Given the description of an element on the screen output the (x, y) to click on. 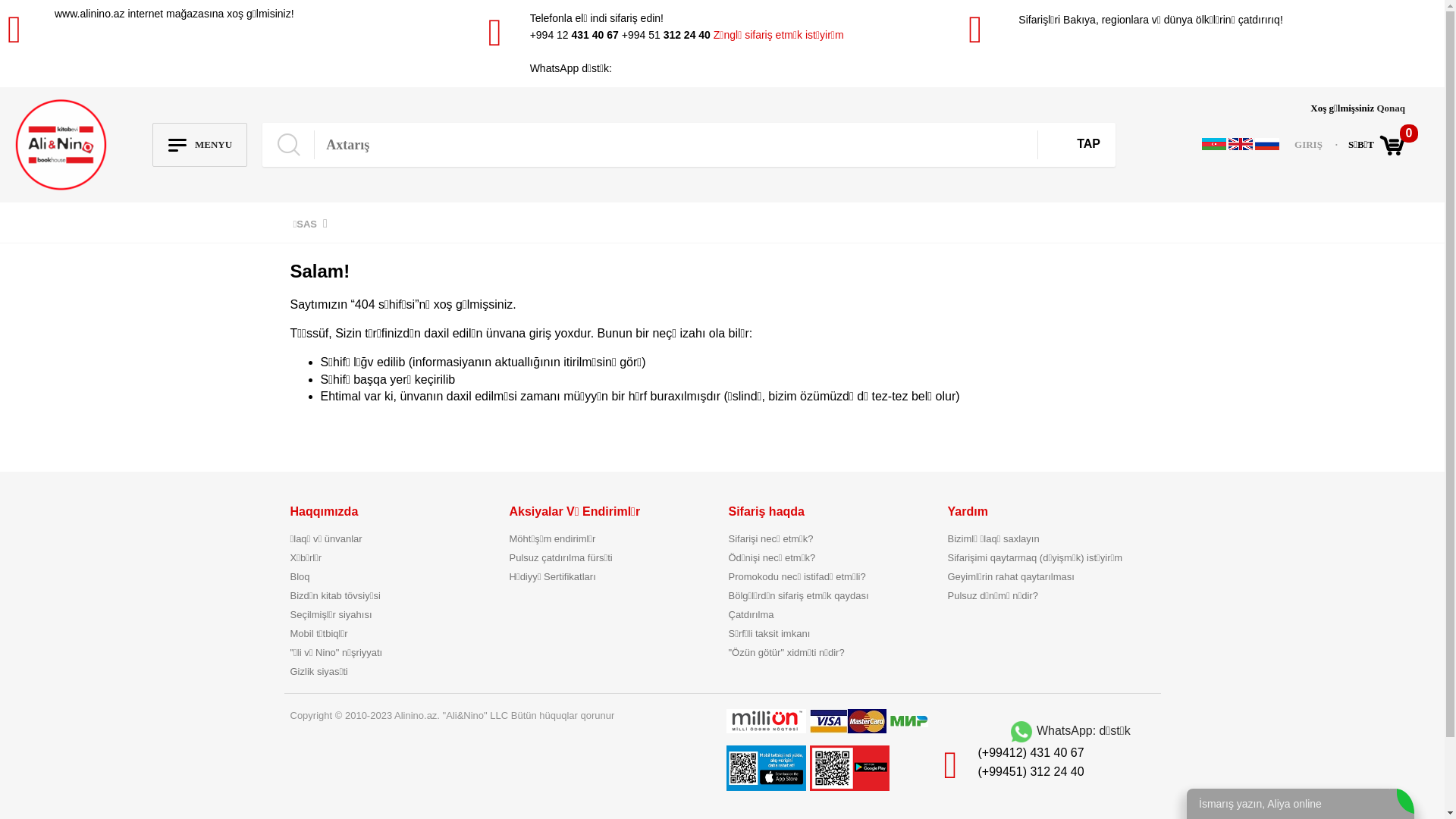
Bloq Element type: text (392, 576)
az Element type: hover (1213, 144)
MENYU Element type: text (199, 144)
en Element type: hover (1240, 144)
Qonaq Element type: text (1390, 107)
TAP Element type: text (1088, 140)
